Given the description of an element on the screen output the (x, y) to click on. 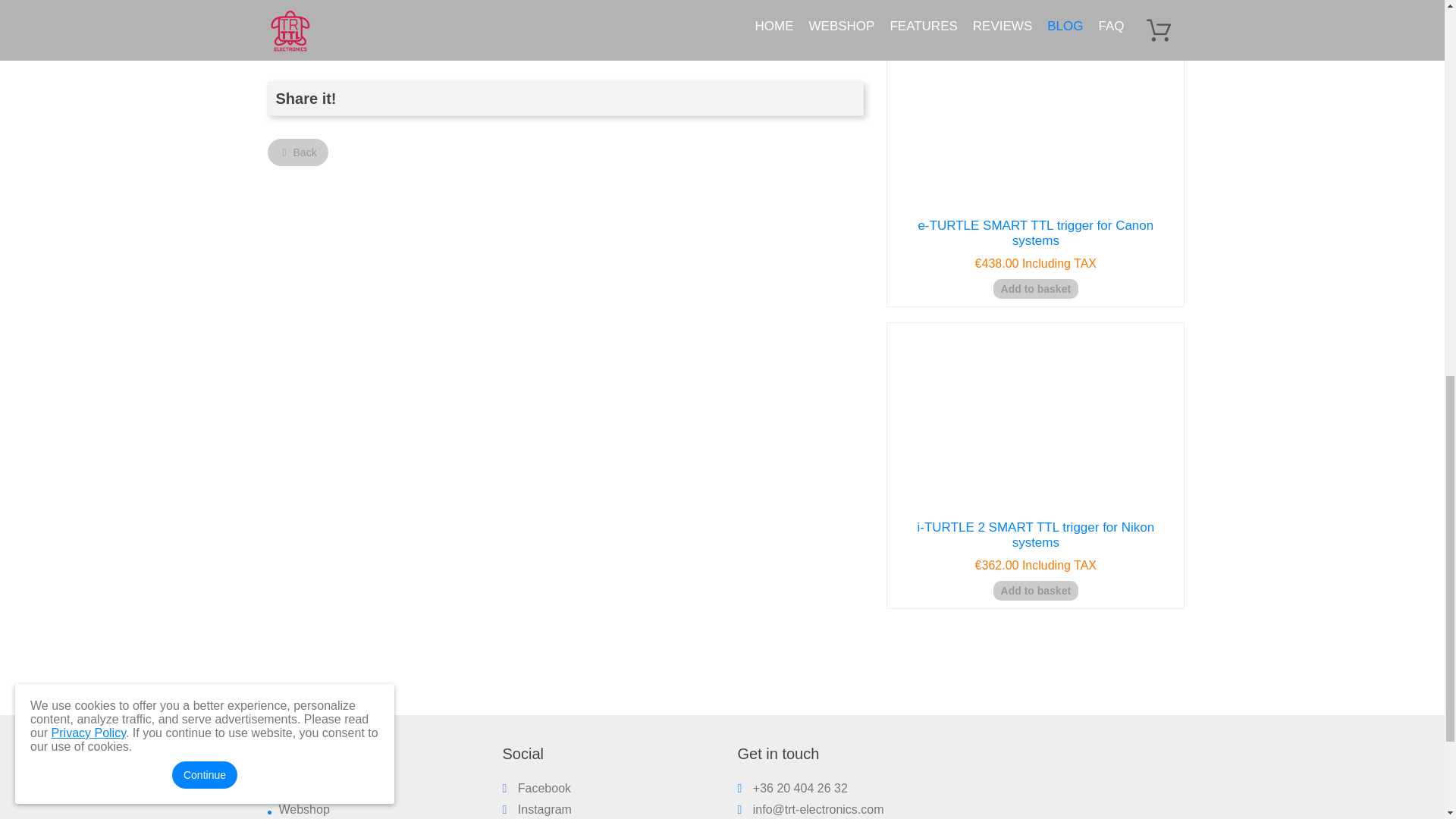
Instagram (536, 809)
Facebook (536, 788)
Add to basket (1035, 288)
Webshop (304, 809)
Back (296, 152)
Add to basket (1035, 590)
Home (295, 788)
Back (296, 152)
